Given the description of an element on the screen output the (x, y) to click on. 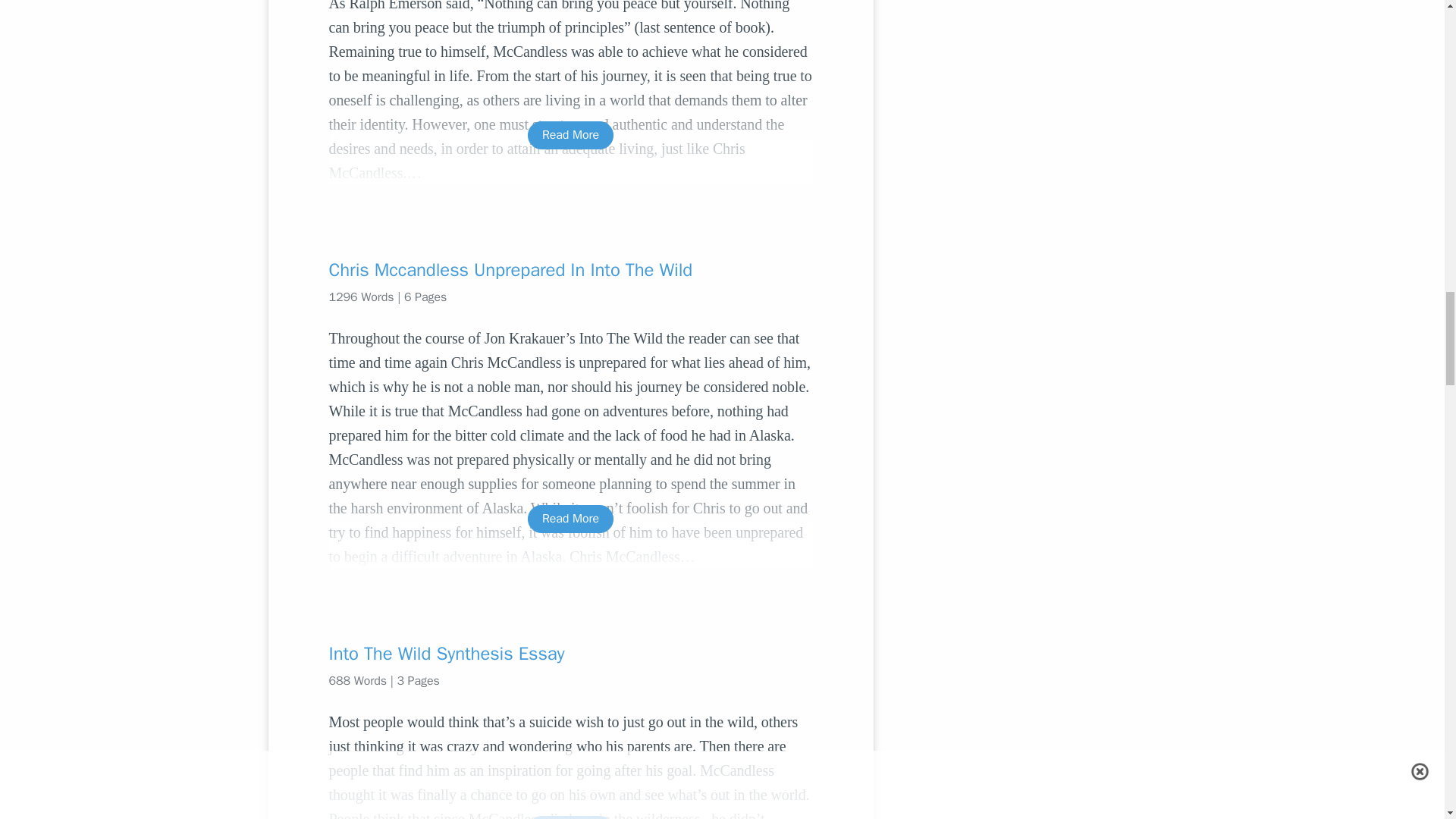
Read More (569, 817)
Read More (569, 135)
Into The Wild Synthesis Essay (570, 653)
Chris Mccandless Unprepared In Into The Wild (570, 269)
Read More (569, 519)
